Given the description of an element on the screen output the (x, y) to click on. 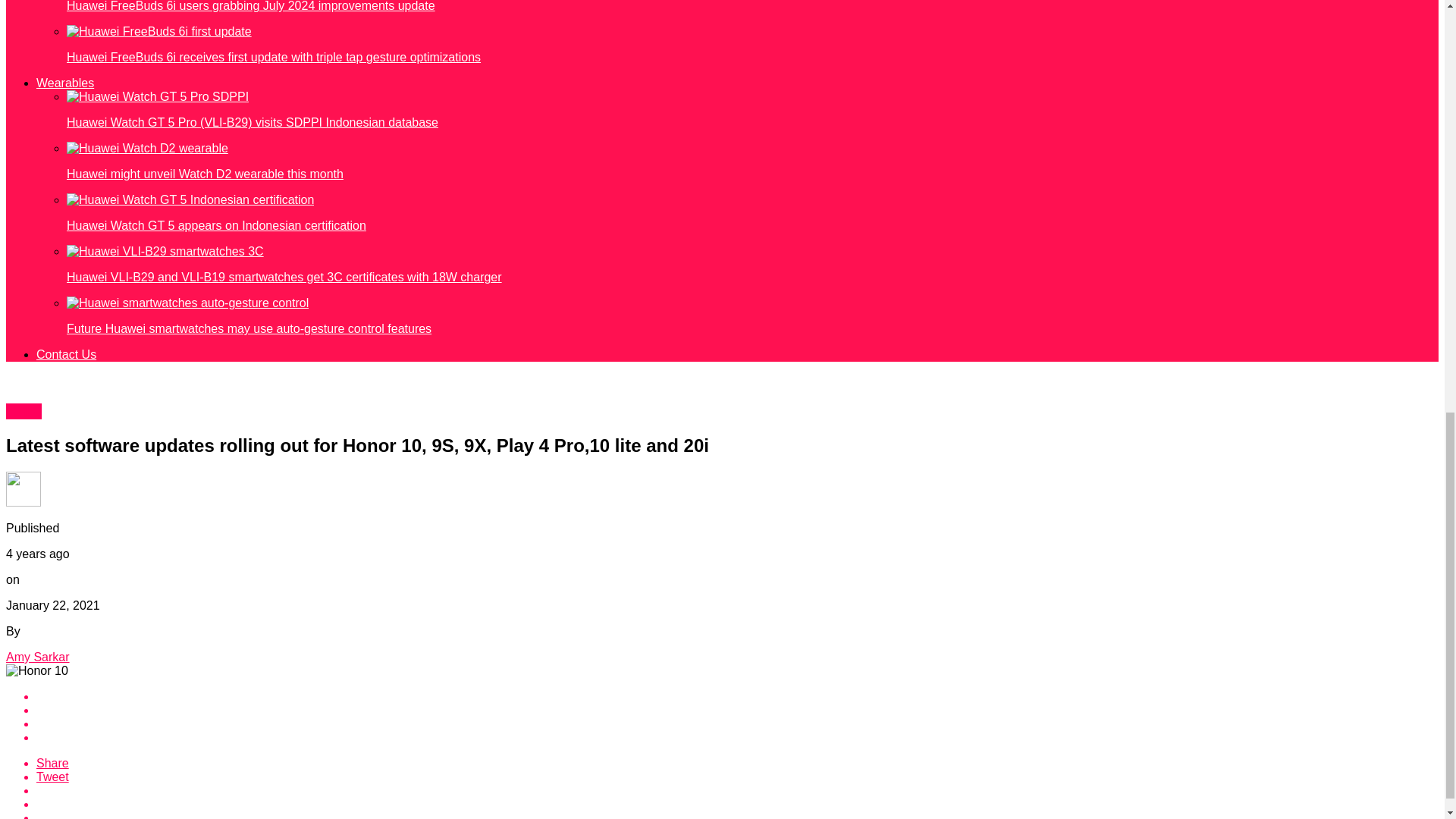
Posts by Amy Sarkar (37, 656)
